Given the description of an element on the screen output the (x, y) to click on. 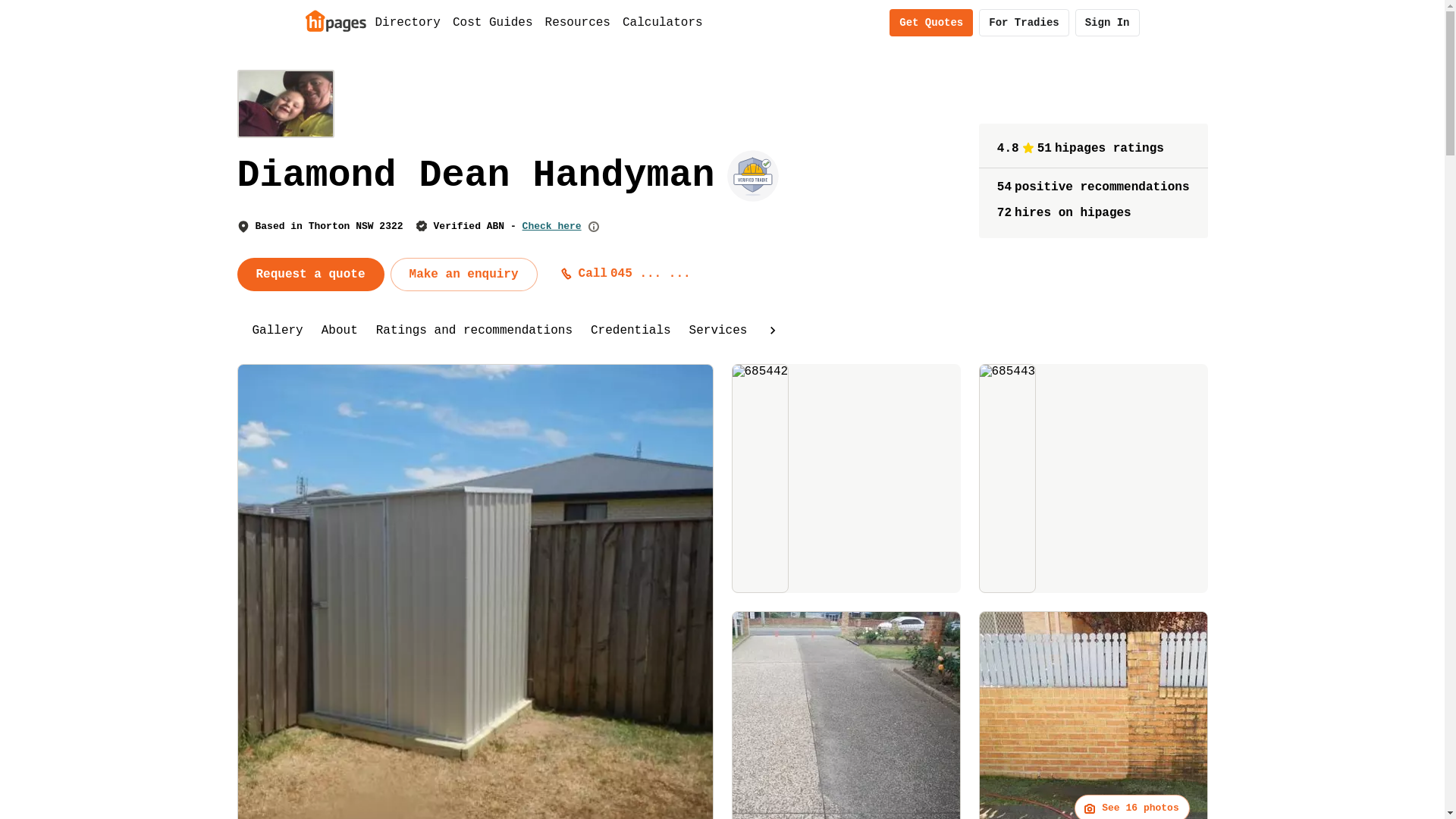
Request a quote Element type: text (309, 274)
Credentials Element type: text (630, 330)
Make an enquiry Element type: text (463, 274)
Services Element type: text (718, 330)
Verified ABN - Check here Element type: text (507, 226)
Cost Guides Element type: text (492, 22)
Get Quotes Element type: text (930, 22)
Directory Element type: text (406, 22)
Call
045 ... ... Element type: text (626, 273)
Ratings and recommendations Element type: text (474, 330)
Home Element type: hover (334, 20)
Calculators Element type: text (662, 22)
Sign In Element type: text (1107, 22)
For Tradies Element type: text (1023, 22)
Resources Element type: text (577, 22)
About Element type: text (339, 330)
Call
045 ... ... Element type: text (629, 273)
Gallery Element type: text (276, 330)
